Given the description of an element on the screen output the (x, y) to click on. 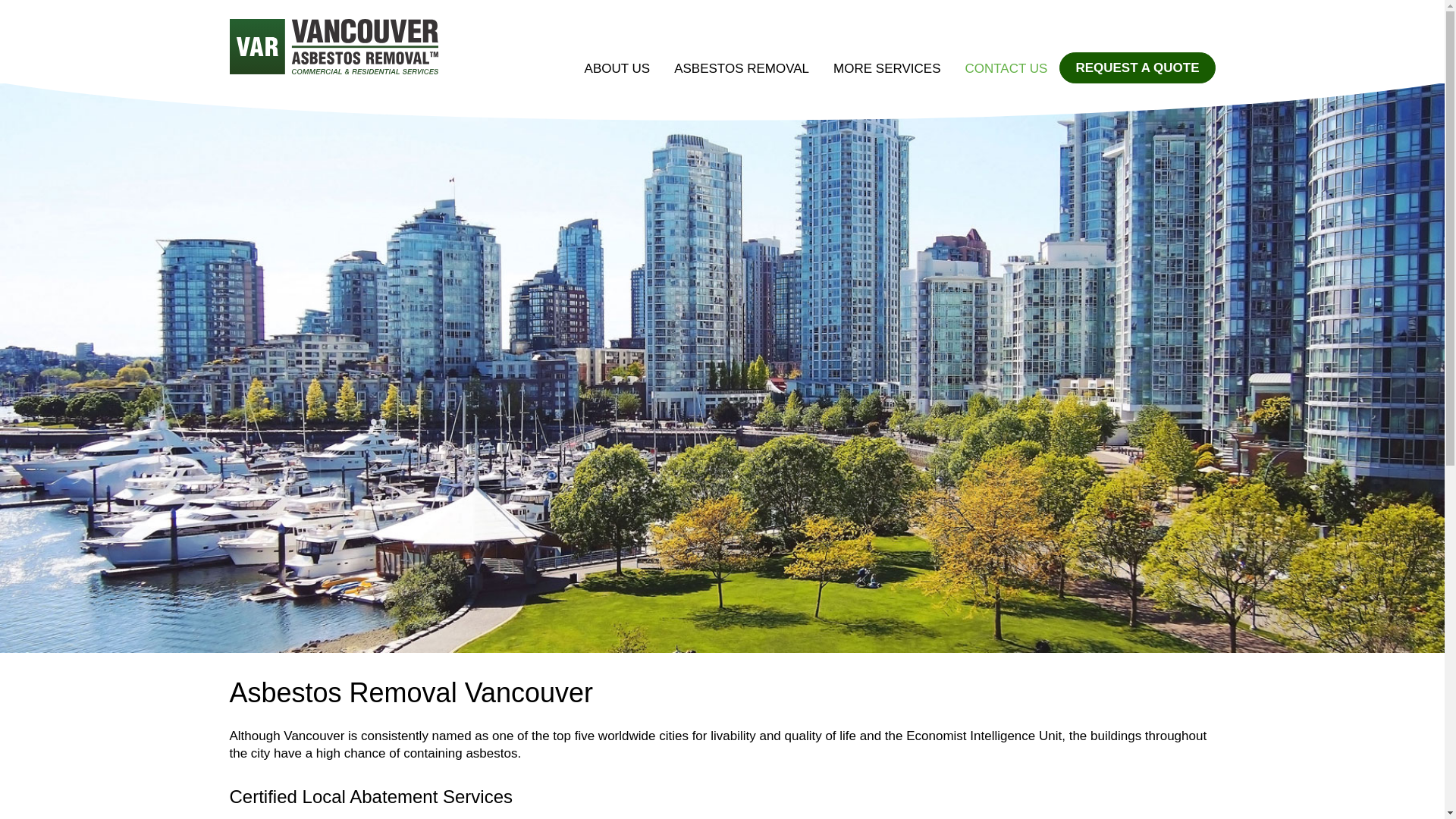
Vancouver Asbestos Removal - Home (333, 48)
MORE SERVICES (886, 68)
ABOUT US (617, 68)
ASBESTOS REMOVAL (741, 68)
REQUEST A QUOTE (1136, 67)
CONTACT US (1005, 68)
